Given the description of an element on the screen output the (x, y) to click on. 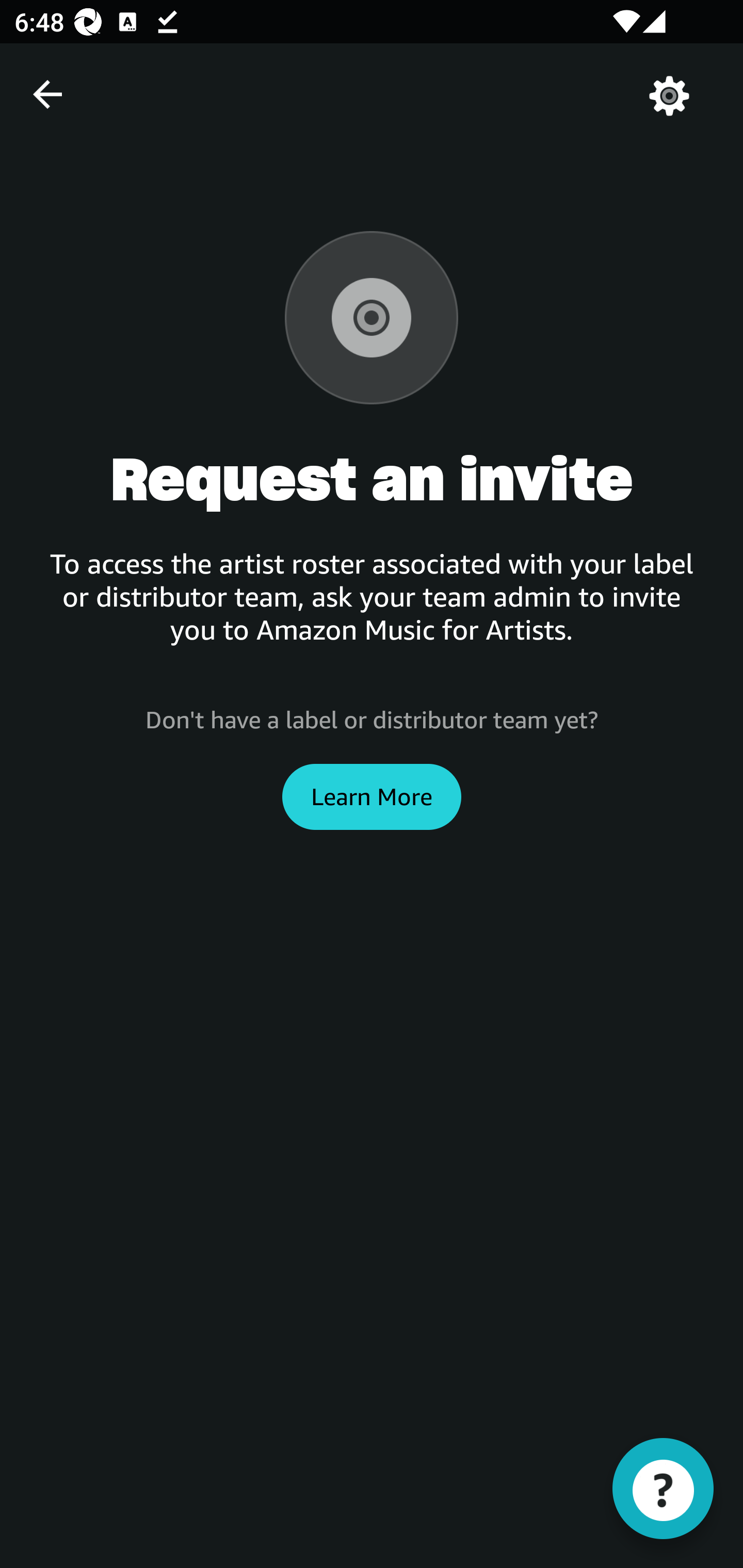
Learn more button Learn More (371, 796)
